Given the description of an element on the screen output the (x, y) to click on. 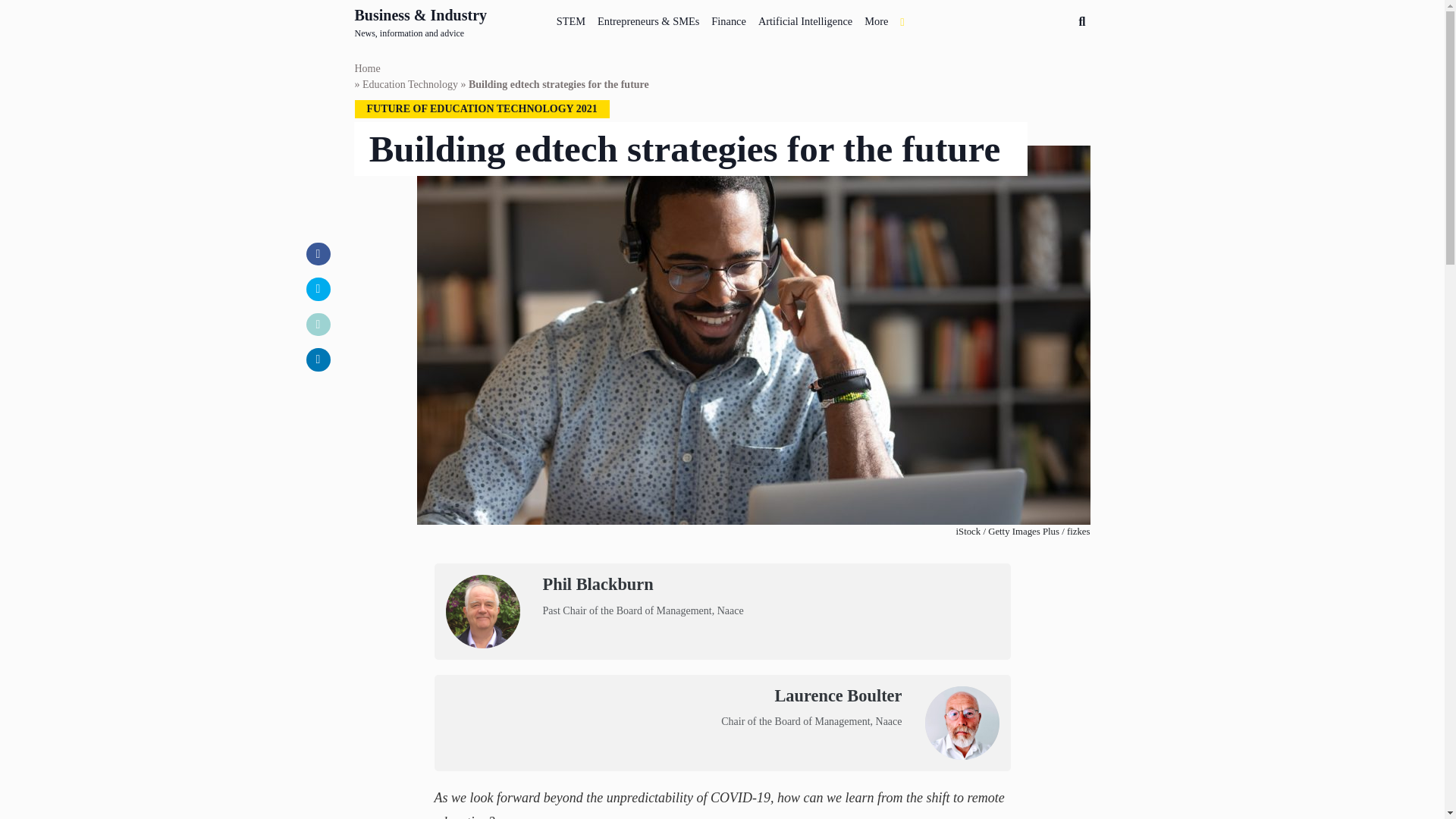
STEM (570, 18)
Artificial Intelligence (805, 18)
More (876, 18)
Finance (728, 18)
